Given the description of an element on the screen output the (x, y) to click on. 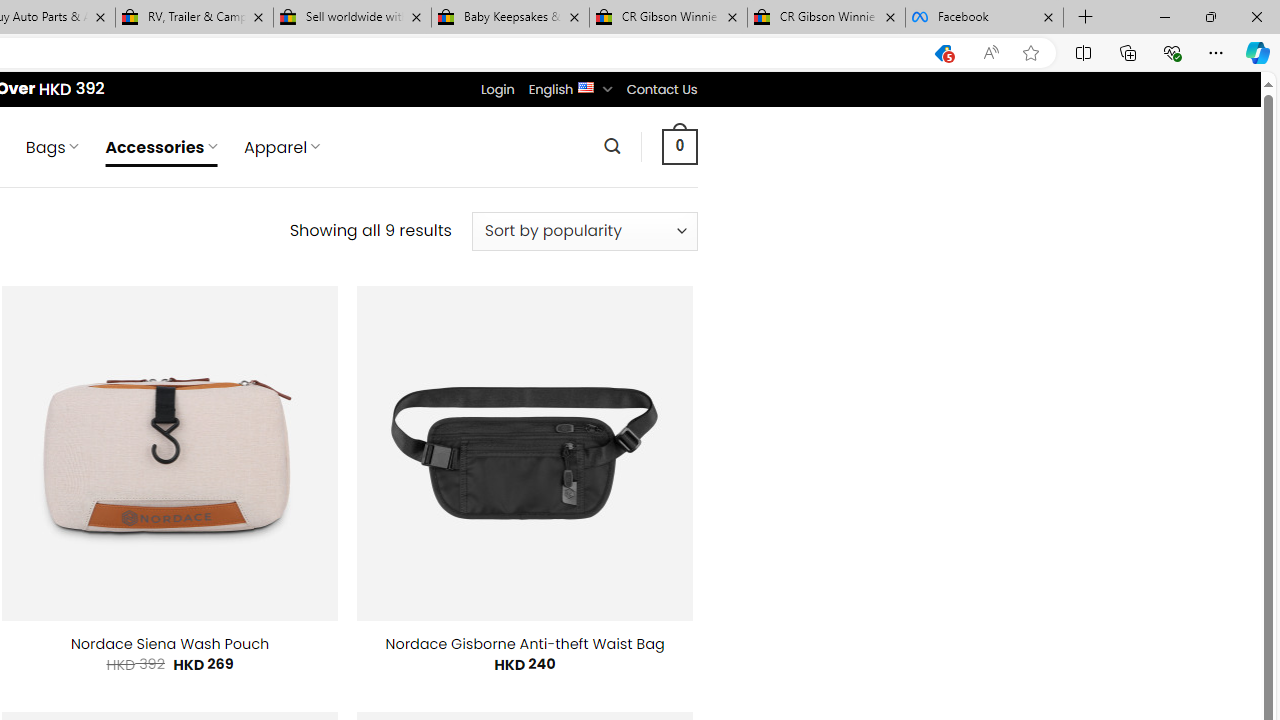
Nordace Gisborne Anti-theft Waist Bag (525, 643)
English (586, 86)
Shop order (584, 231)
Facebook (984, 17)
 0  (679, 146)
